Given the description of an element on the screen output the (x, y) to click on. 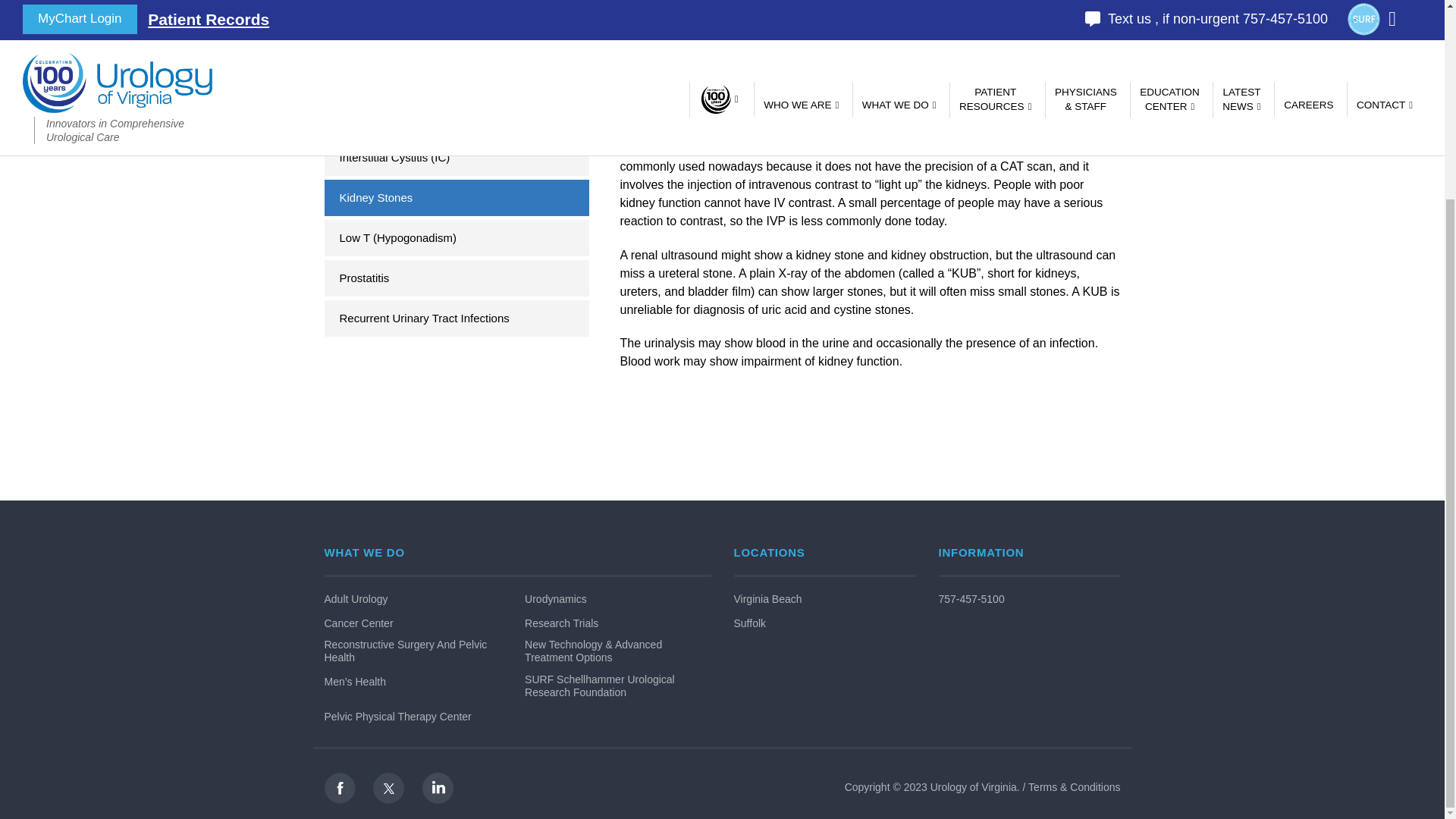
Facebook (339, 787)
Linkedin (437, 787)
Twitter (388, 787)
